Given the description of an element on the screen output the (x, y) to click on. 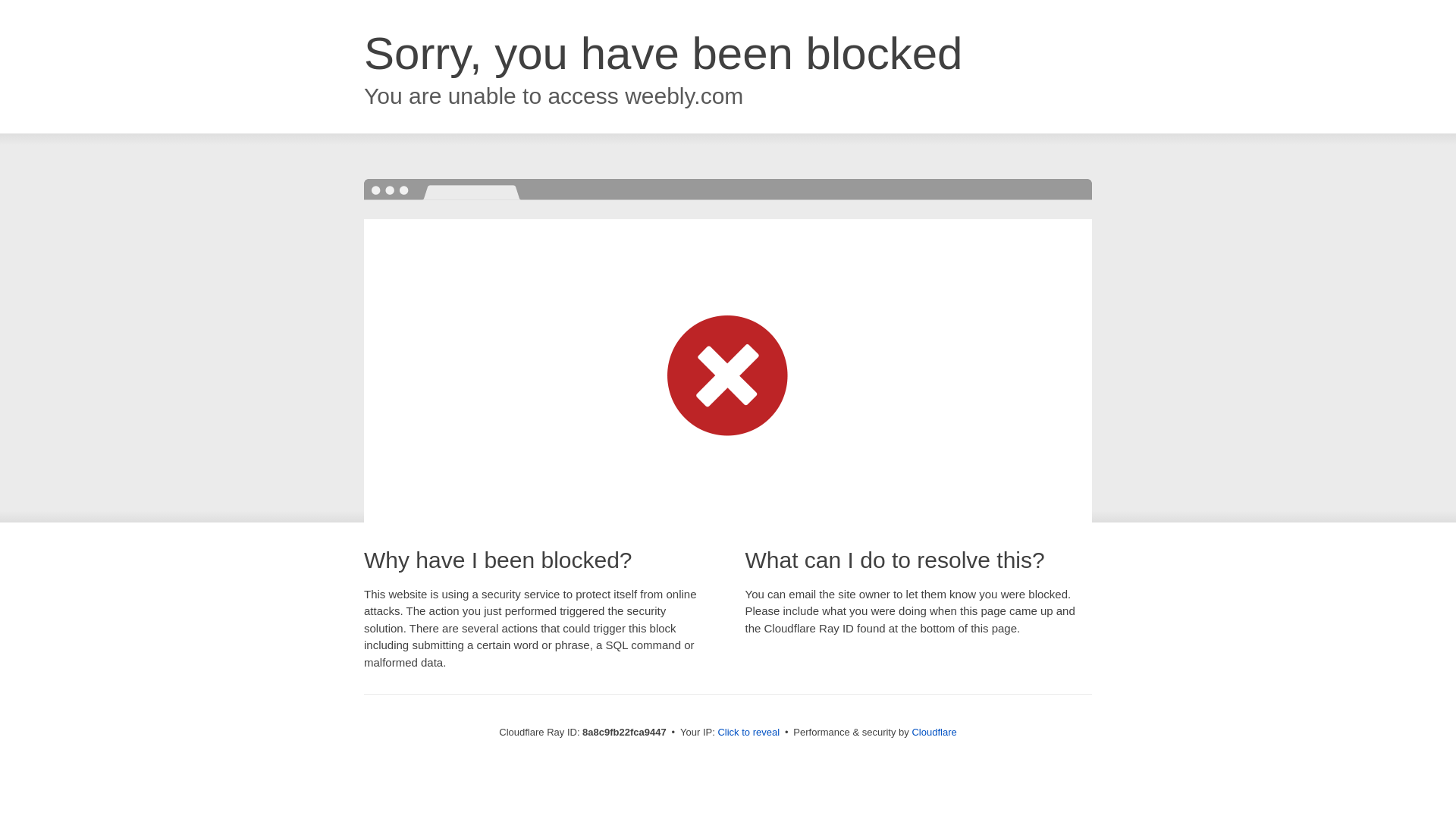
Click to reveal (747, 732)
Cloudflare (933, 731)
